Given the description of an element on the screen output the (x, y) to click on. 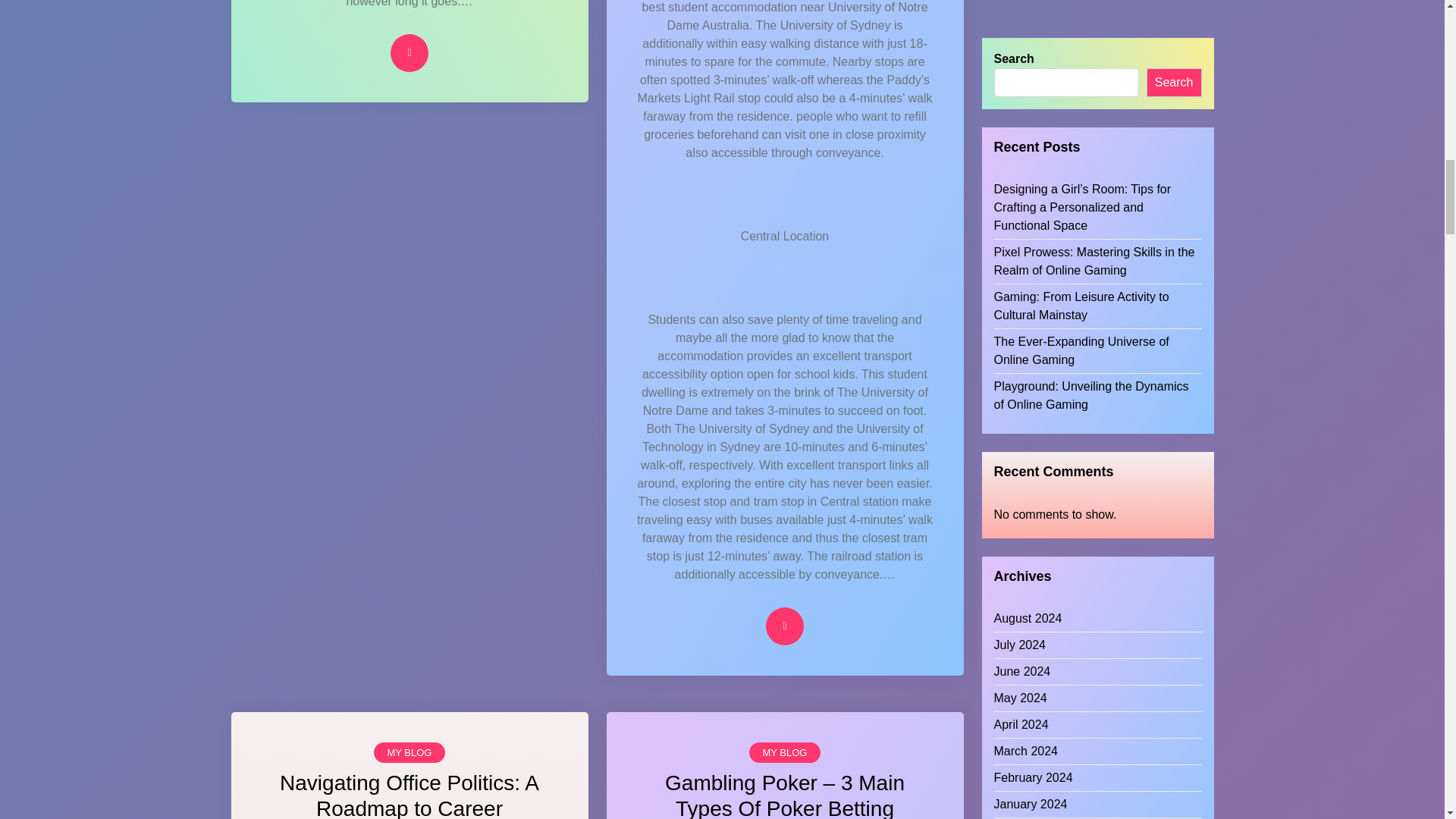
MY BLOG (784, 752)
MY BLOG (409, 752)
Navigating Office Politics: A Roadmap to Career Advancement (408, 794)
